Given the description of an element on the screen output the (x, y) to click on. 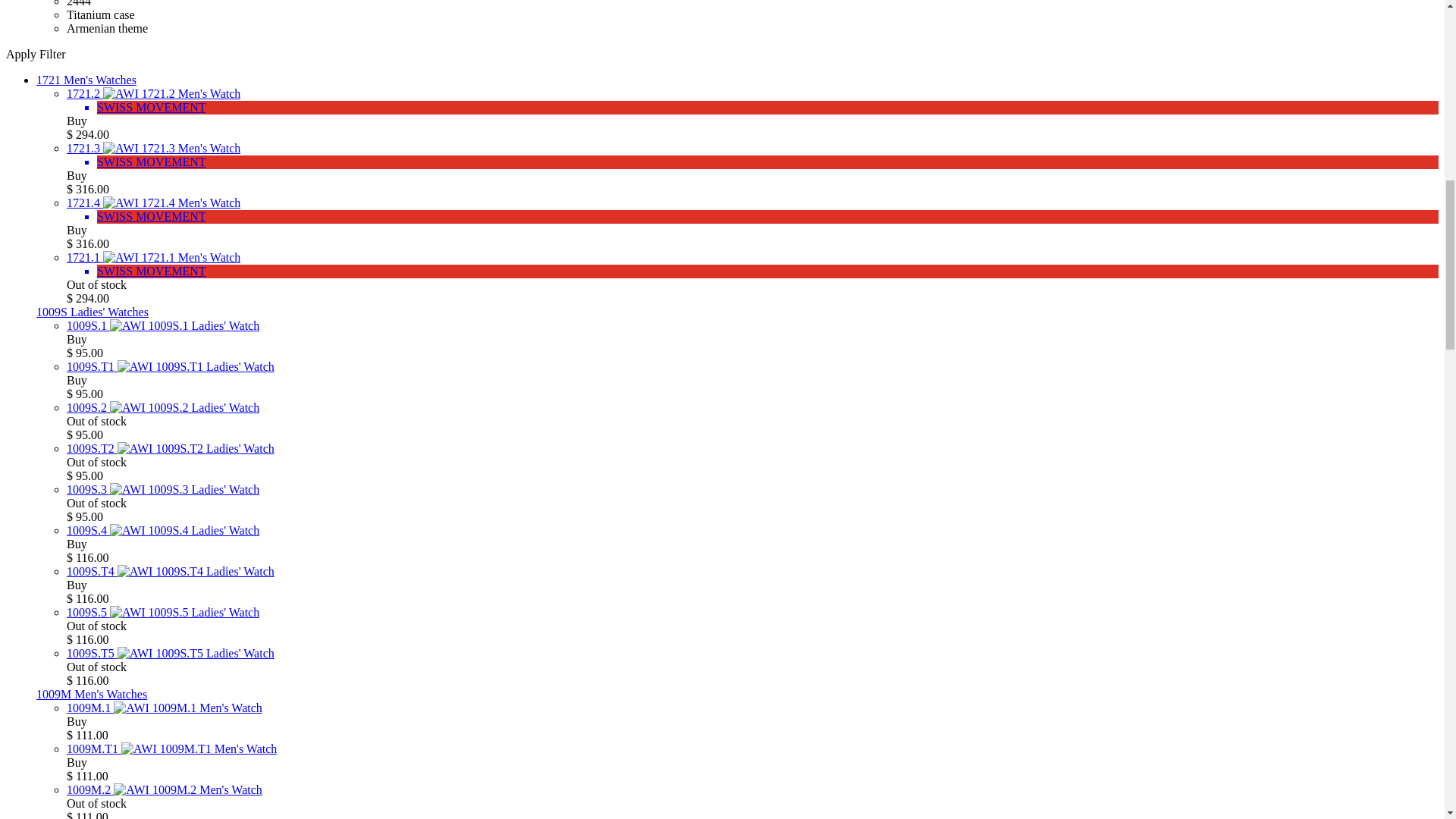
1009S Ladies' Watches (92, 311)
1721 Men's Watches (86, 79)
1009M Men's Watches (91, 694)
